Given the description of an element on the screen output the (x, y) to click on. 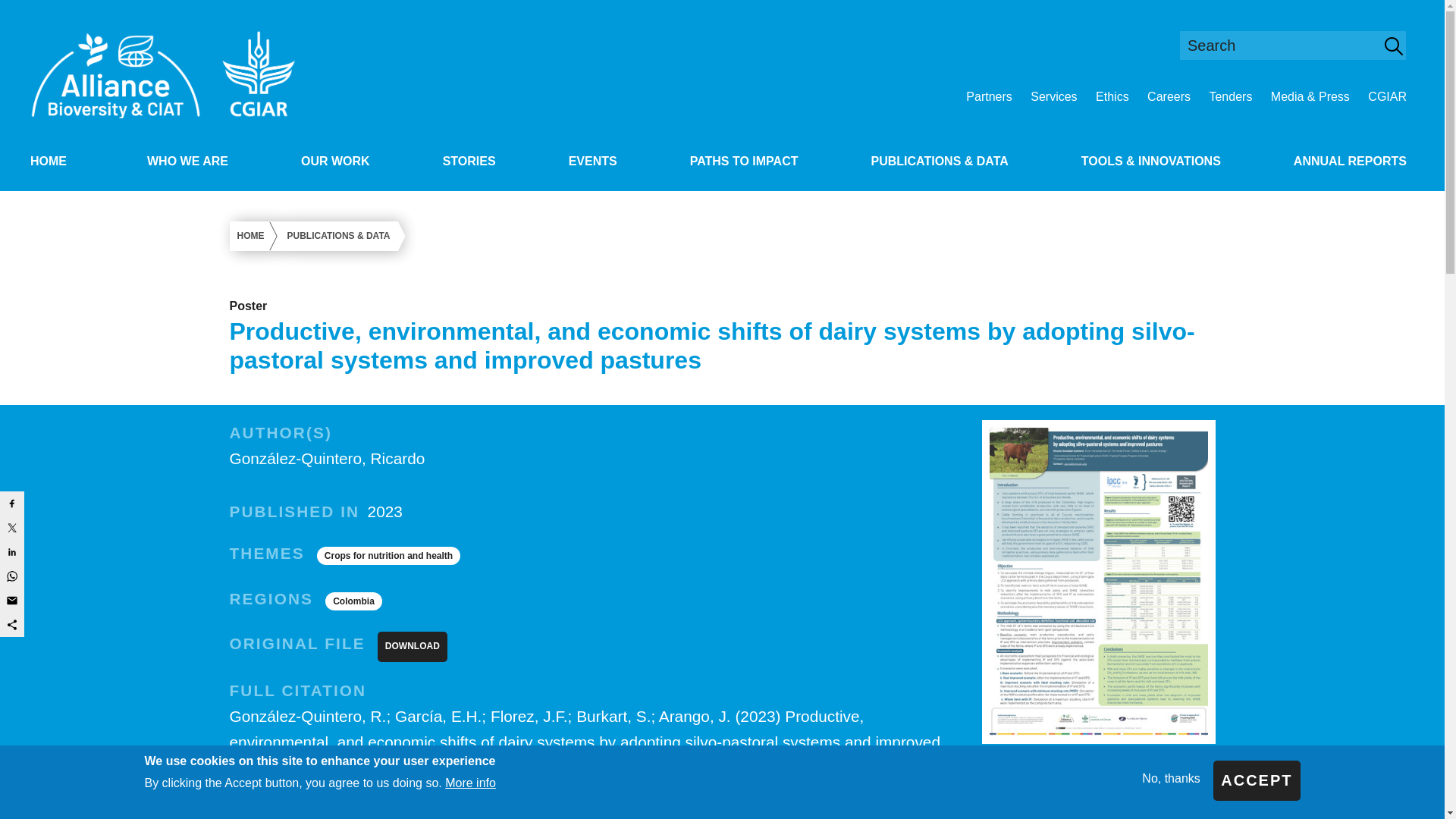
ANNUAL REPORTS (1349, 161)
Partners (988, 96)
Services (1053, 96)
PATHS TO IMPACT (744, 161)
Role in the parent organisation (1386, 96)
STORIES (469, 161)
OUR WORK (335, 161)
EVENTS (592, 161)
WHO WE ARE (187, 161)
HOME (48, 161)
